Given the description of an element on the screen output the (x, y) to click on. 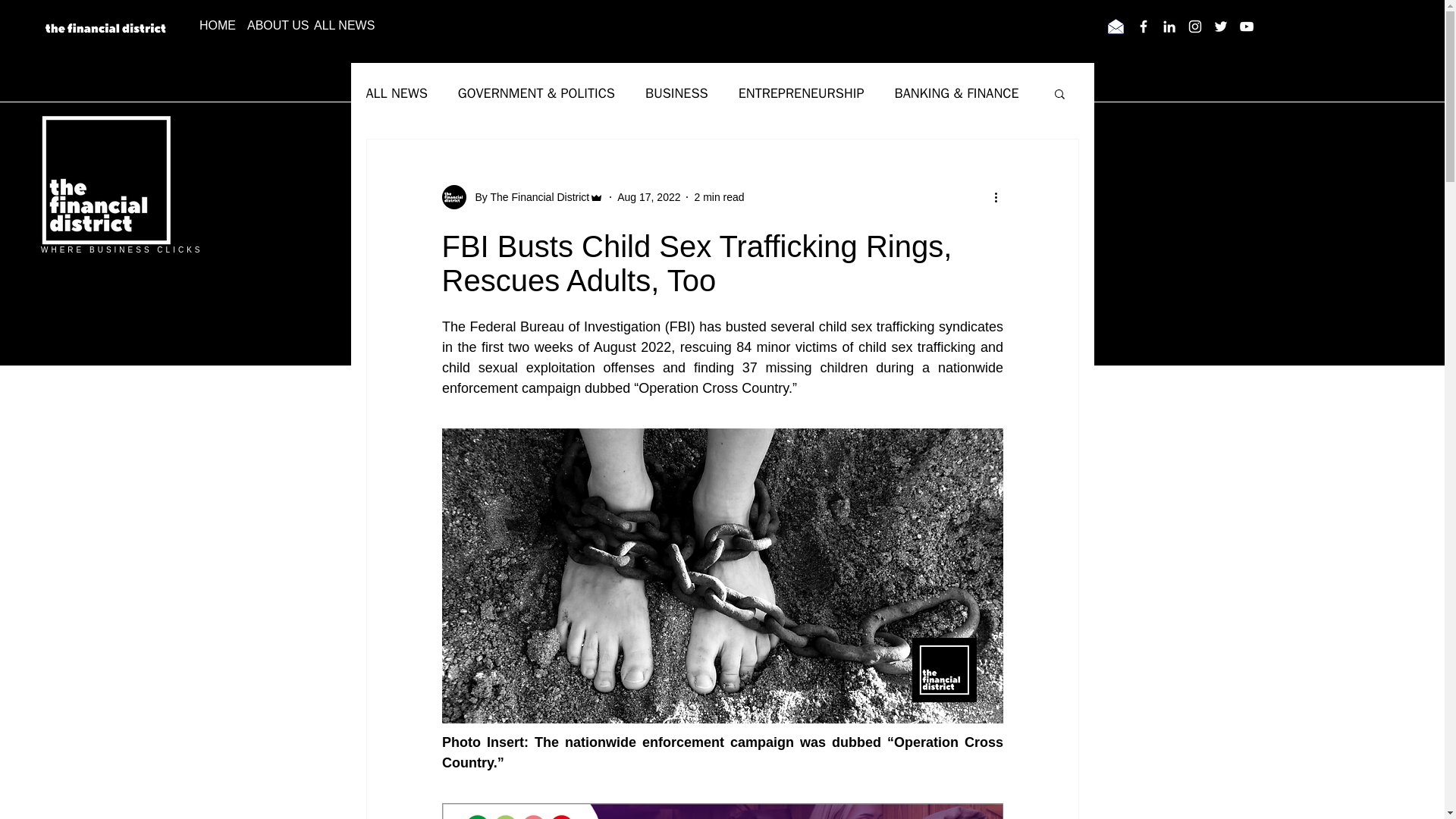
By The Financial District (527, 197)
2 min read (719, 196)
BUSINESS (676, 93)
ENTREPRENEURSHIP (801, 93)
ALL NEWS (395, 93)
ALL NEWS (334, 25)
HOME (211, 25)
ABOUT US (268, 25)
Aug 17, 2022 (648, 196)
